Given the description of an element on the screen output the (x, y) to click on. 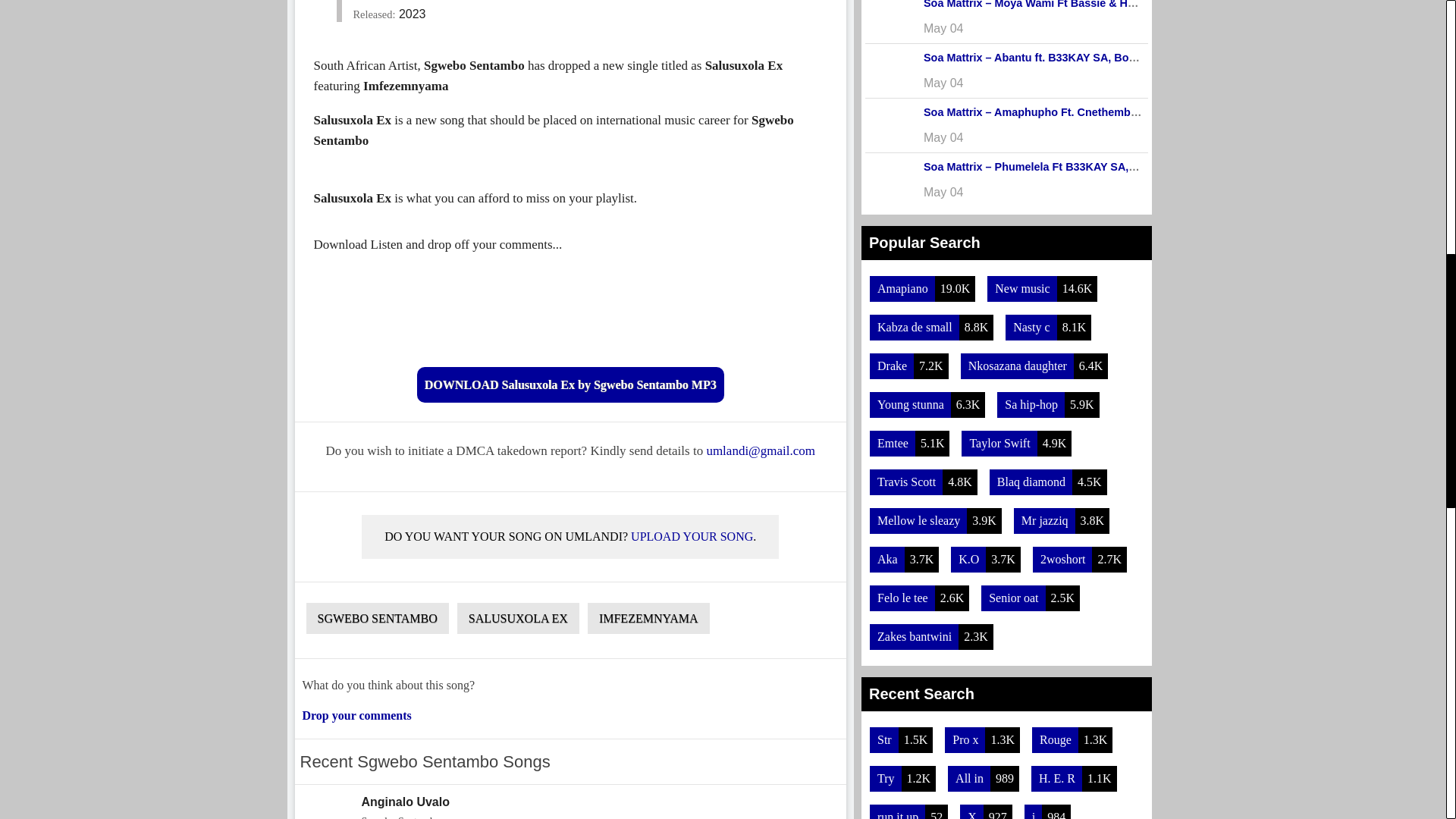
Music Player (569, 308)
Drop your comments (355, 715)
UPLOAD YOUR SONG (691, 535)
DOWNLOAD Salusuxola Ex by Sgwebo Sentambo MP3 (569, 384)
SGWEBO SENTAMBO (376, 617)
IMFEZEMNYAMA (569, 801)
SALUSUXOLA EX (649, 617)
